Given the description of an element on the screen output the (x, y) to click on. 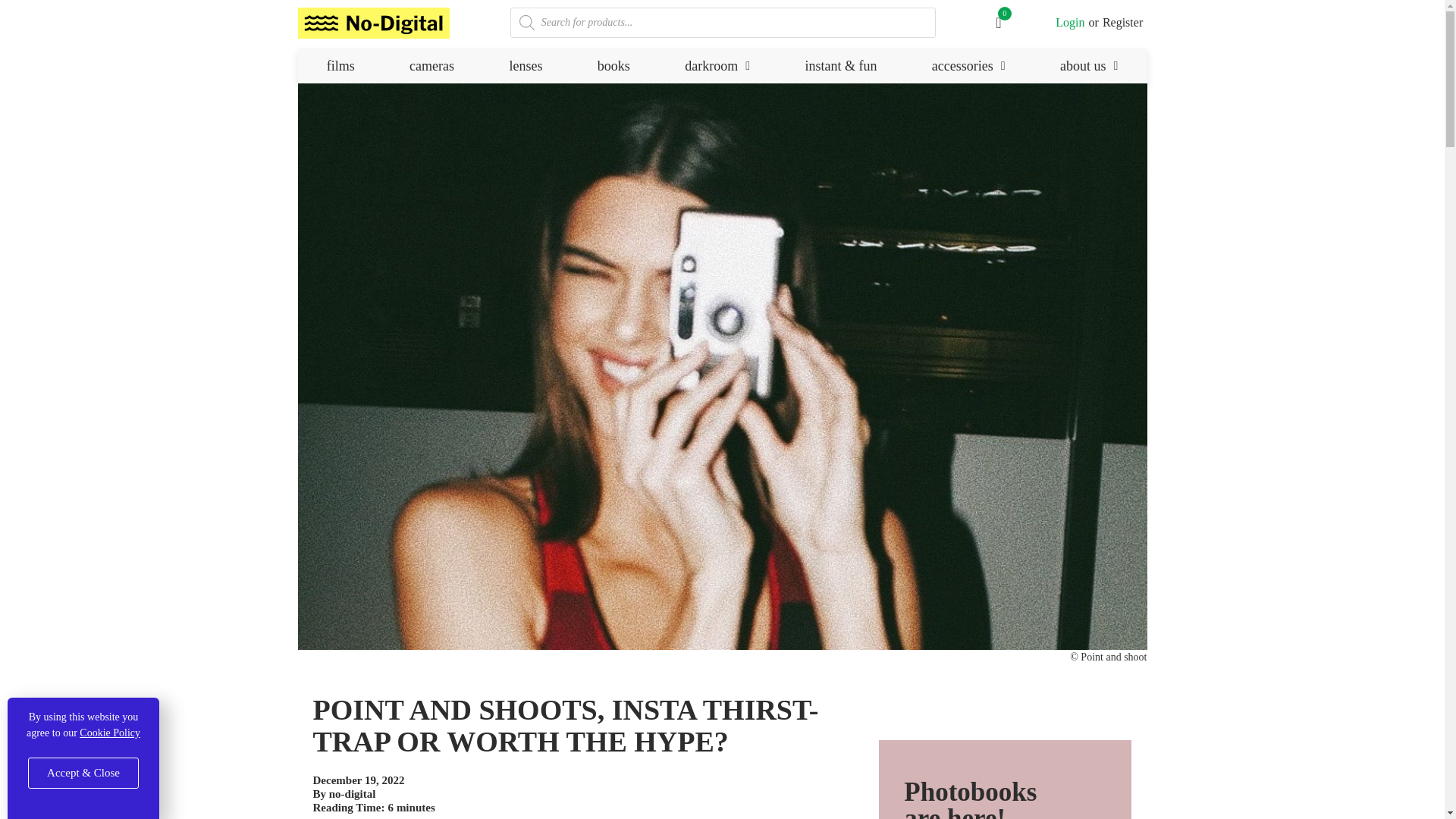
books (614, 65)
films (339, 65)
darkroom (717, 65)
0 (1002, 22)
Register (1122, 22)
cameras (431, 65)
lenses (525, 65)
View your shopping cart (1002, 22)
Login (1069, 22)
accessories (968, 65)
